Given the description of an element on the screen output the (x, y) to click on. 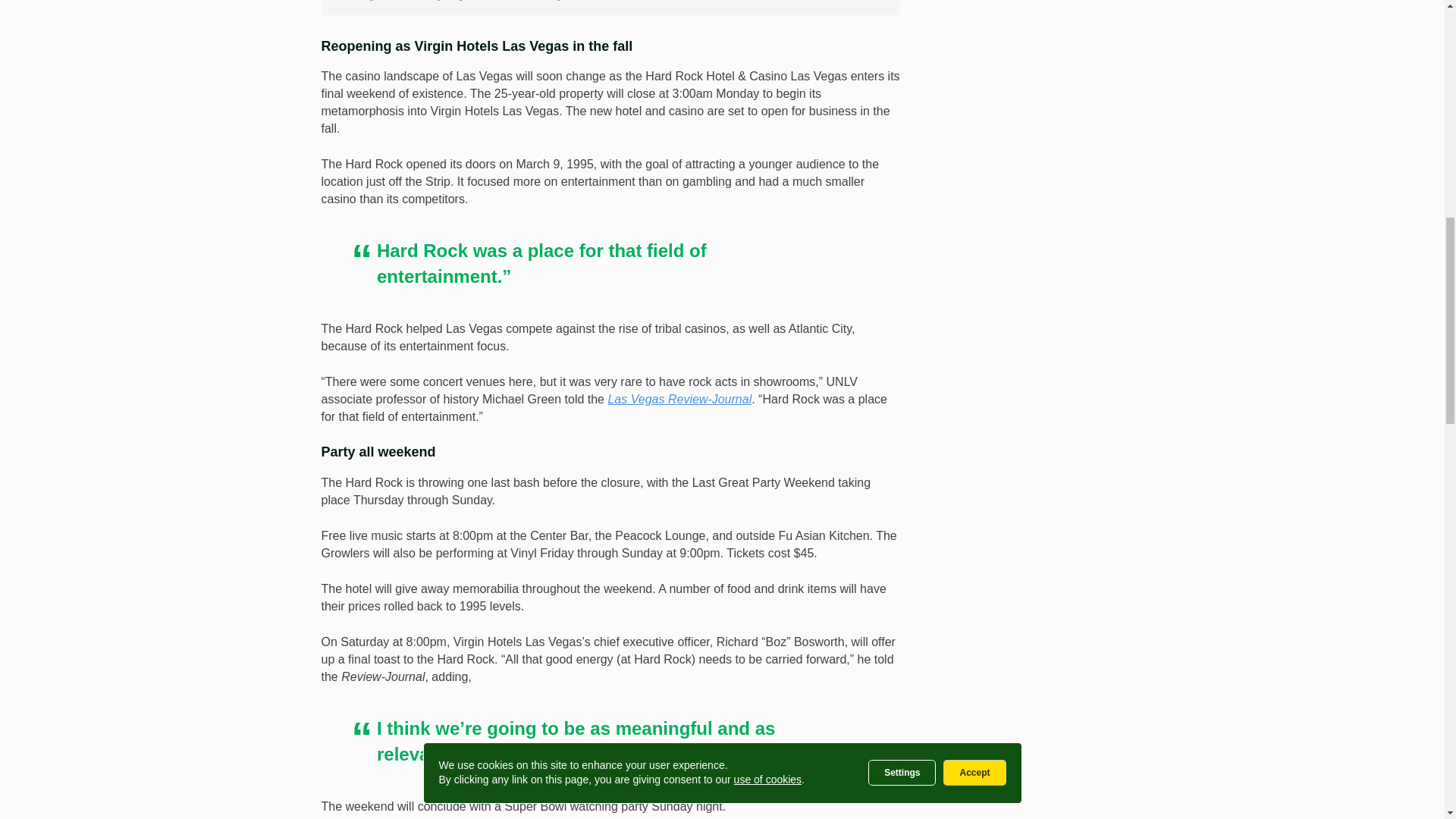
Las Vegas Review-Journal (679, 399)
